Given the description of an element on the screen output the (x, y) to click on. 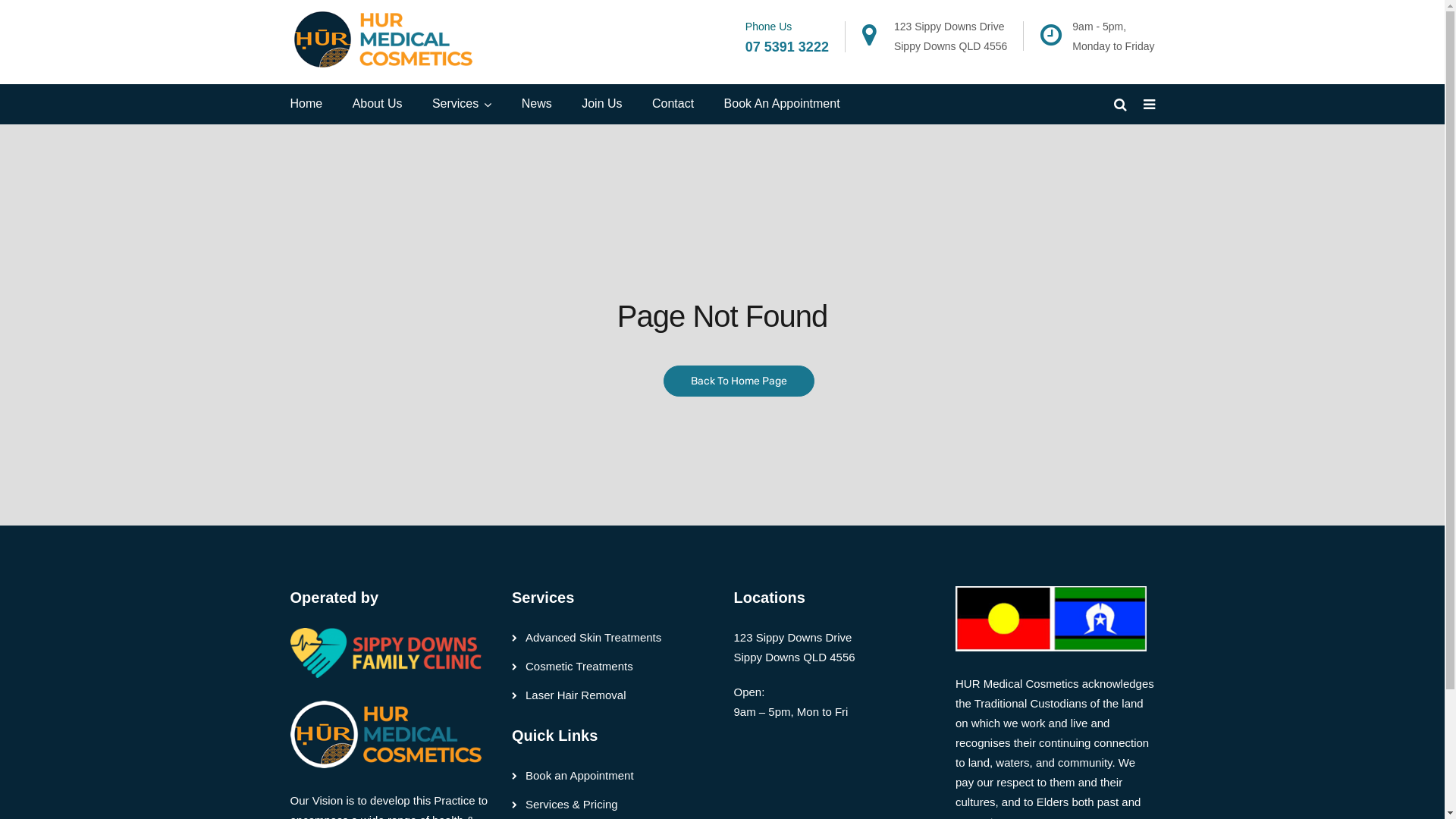
Home Element type: text (305, 104)
Cosmetic Treatments Element type: text (579, 665)
Join Us Element type: text (601, 104)
About Us Element type: text (377, 104)
Back To Home Page Element type: text (738, 380)
Book An Appointment Element type: text (782, 104)
Advanced Skin Treatments Element type: text (593, 636)
News Element type: text (536, 104)
07 5391 3222 Element type: text (786, 46)
Contact Element type: text (672, 104)
123 Sippy Downs Drive
Sippy Downs QLD 4556 Element type: text (950, 36)
Book an Appointment Element type: text (579, 774)
Services Element type: text (461, 104)
Services & Pricing Element type: text (571, 803)
Laser Hair Removal Element type: text (575, 694)
